Given the description of an element on the screen output the (x, y) to click on. 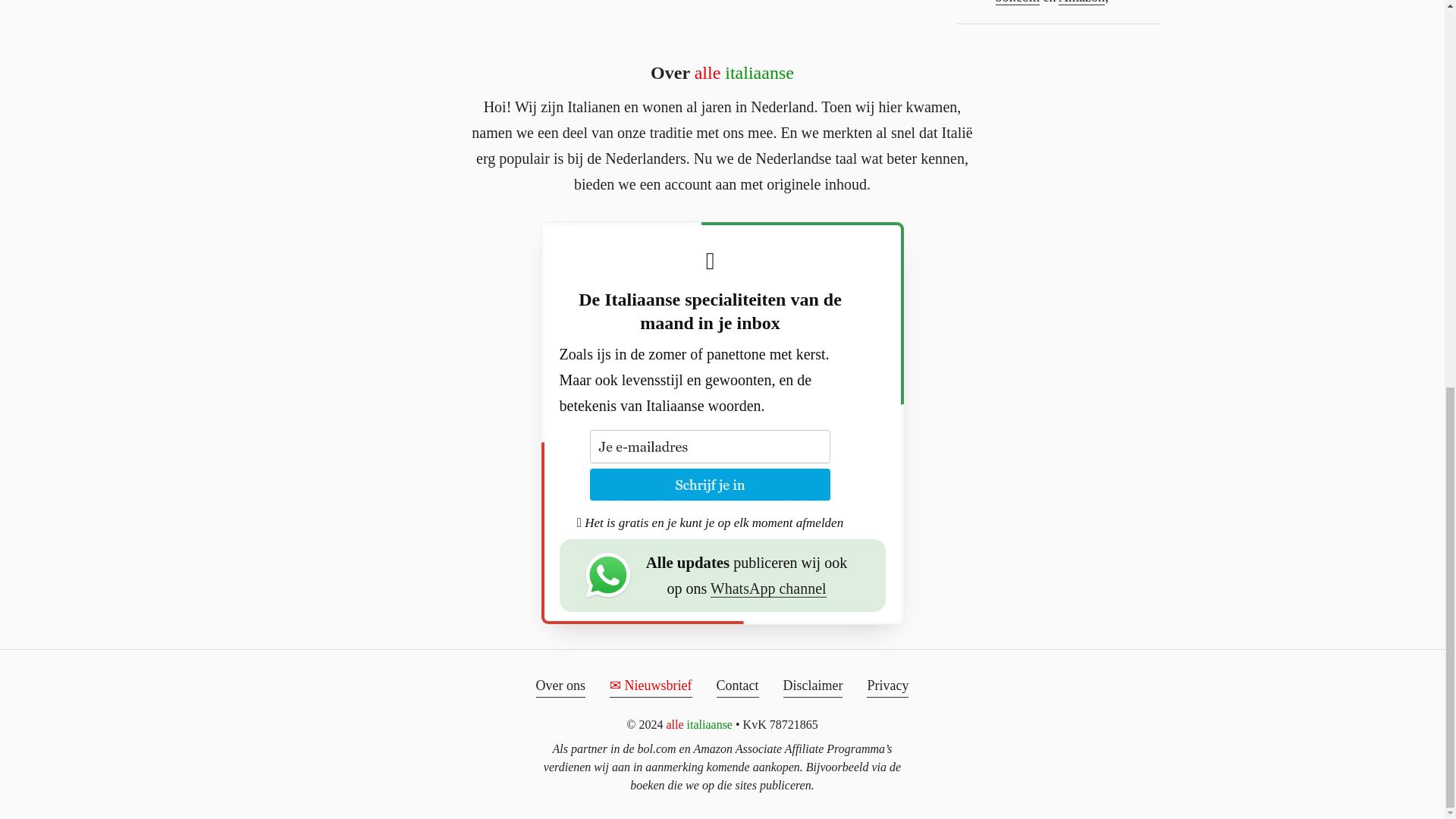
bol.com (1016, 2)
WhatsApp channel (768, 588)
Contact (737, 686)
Ontdek meer (1281, 209)
Niet nu (1357, 209)
Amazon (1081, 2)
Privacy (887, 686)
Disclaimer (813, 686)
Over ons (560, 686)
